Given the description of an element on the screen output the (x, y) to click on. 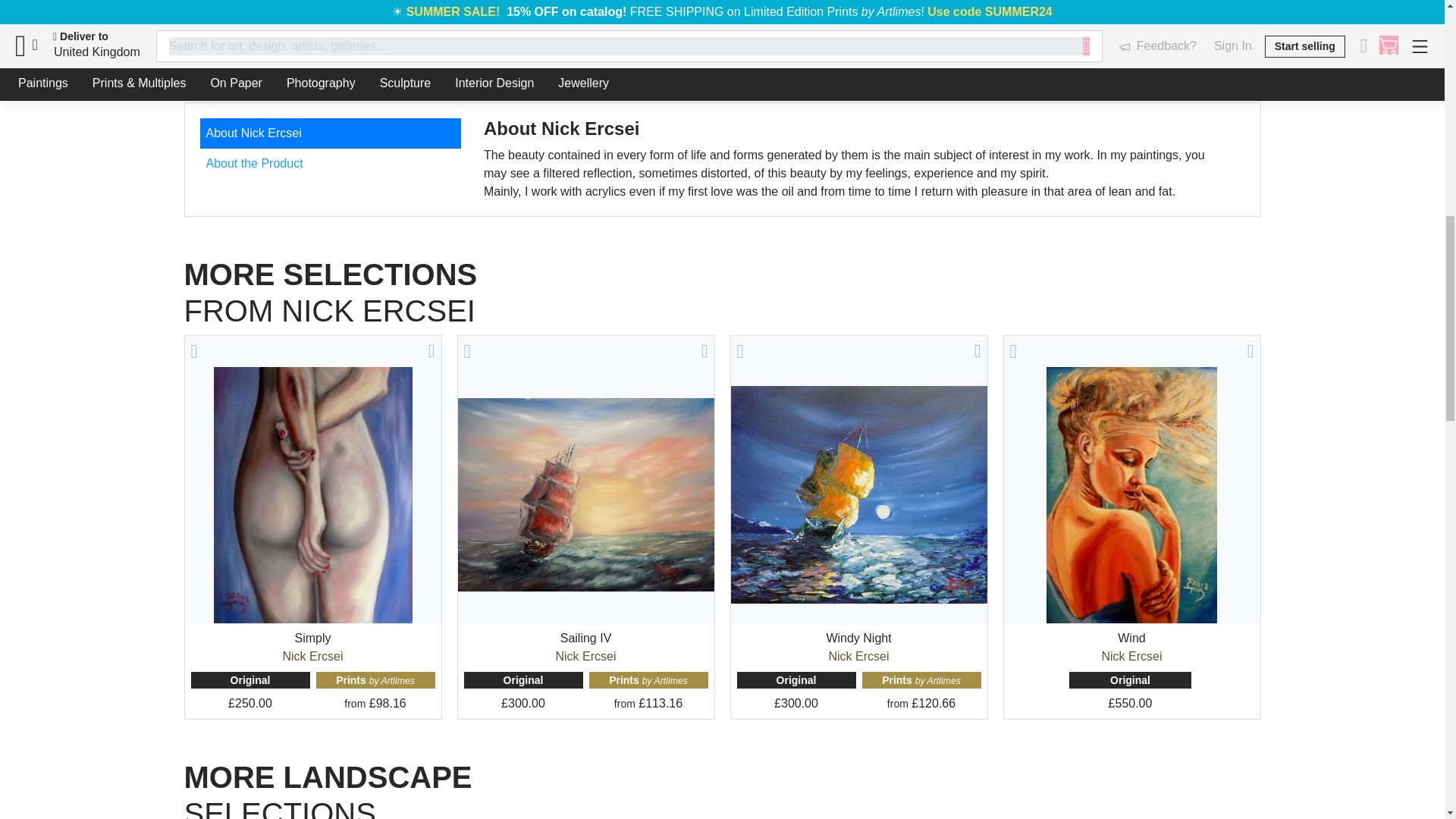
About the Product (330, 163)
About Nick Ercsei (330, 132)
